Given the description of an element on the screen output the (x, y) to click on. 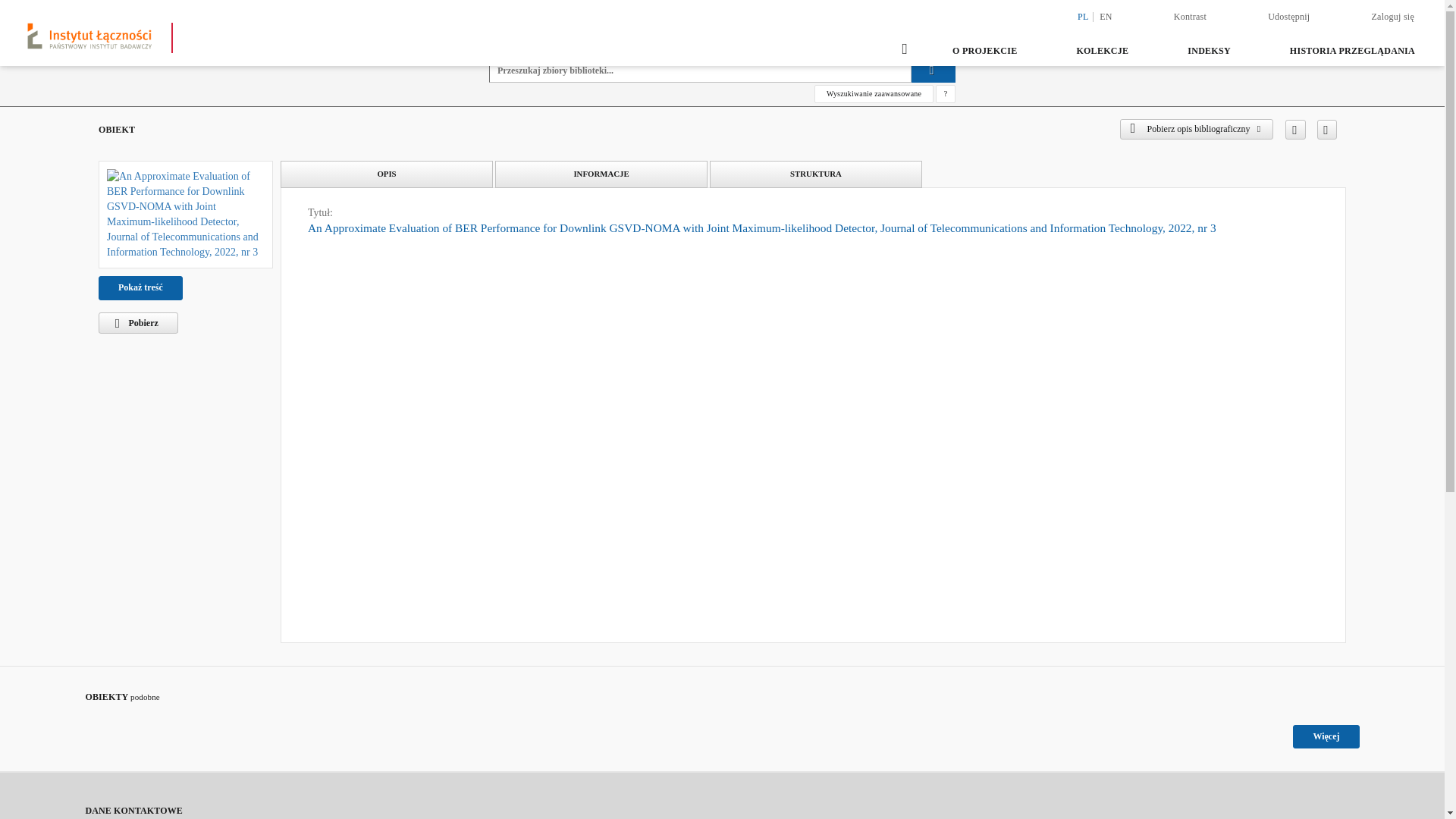
KOLEKCJE (1101, 50)
Kontrast (1189, 15)
O PROJEKCIE (984, 50)
PL (1083, 17)
EN (1106, 17)
